Given the description of an element on the screen output the (x, y) to click on. 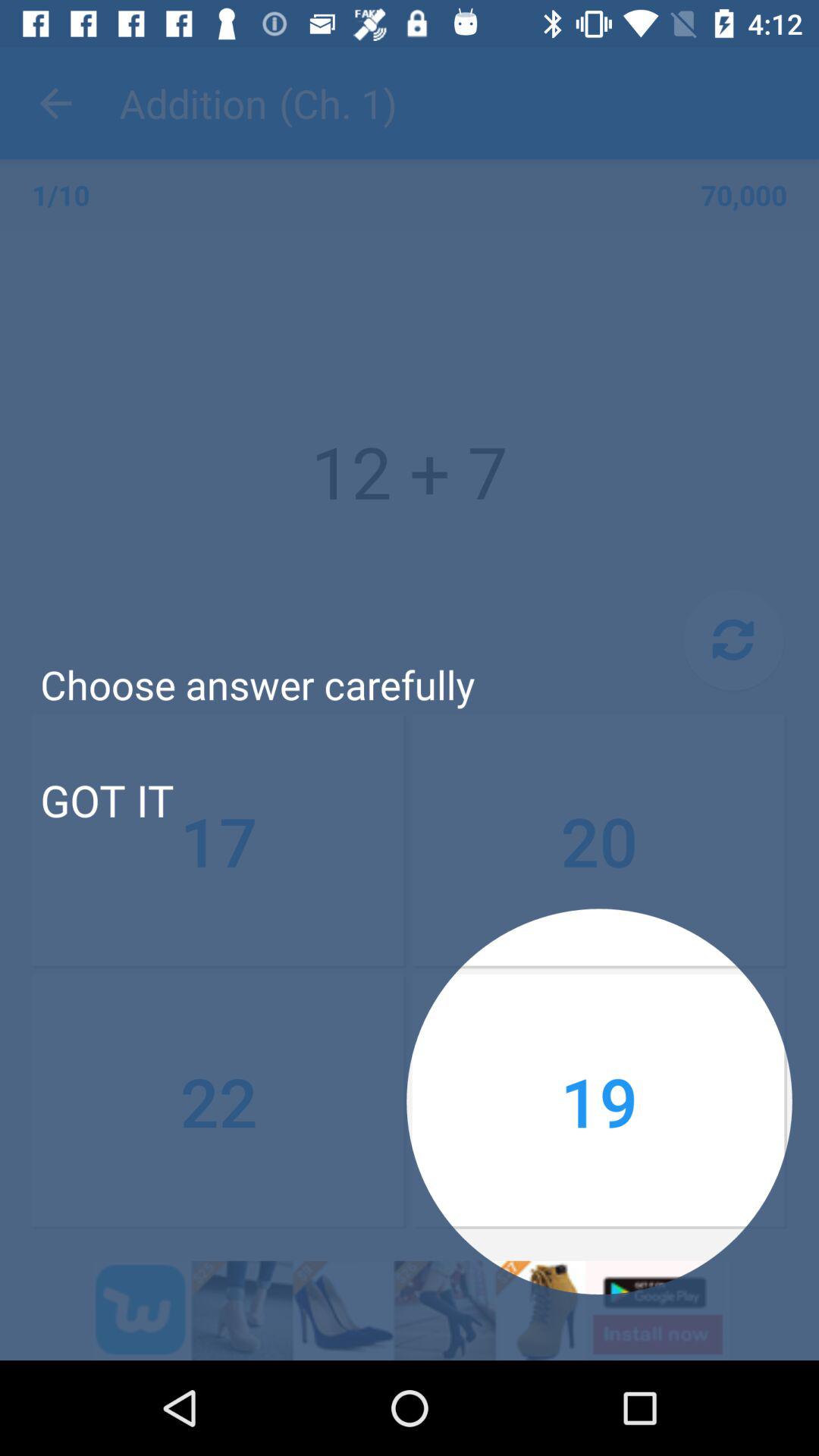
choose the icon next to the addition icon (55, 103)
